Given the description of an element on the screen output the (x, y) to click on. 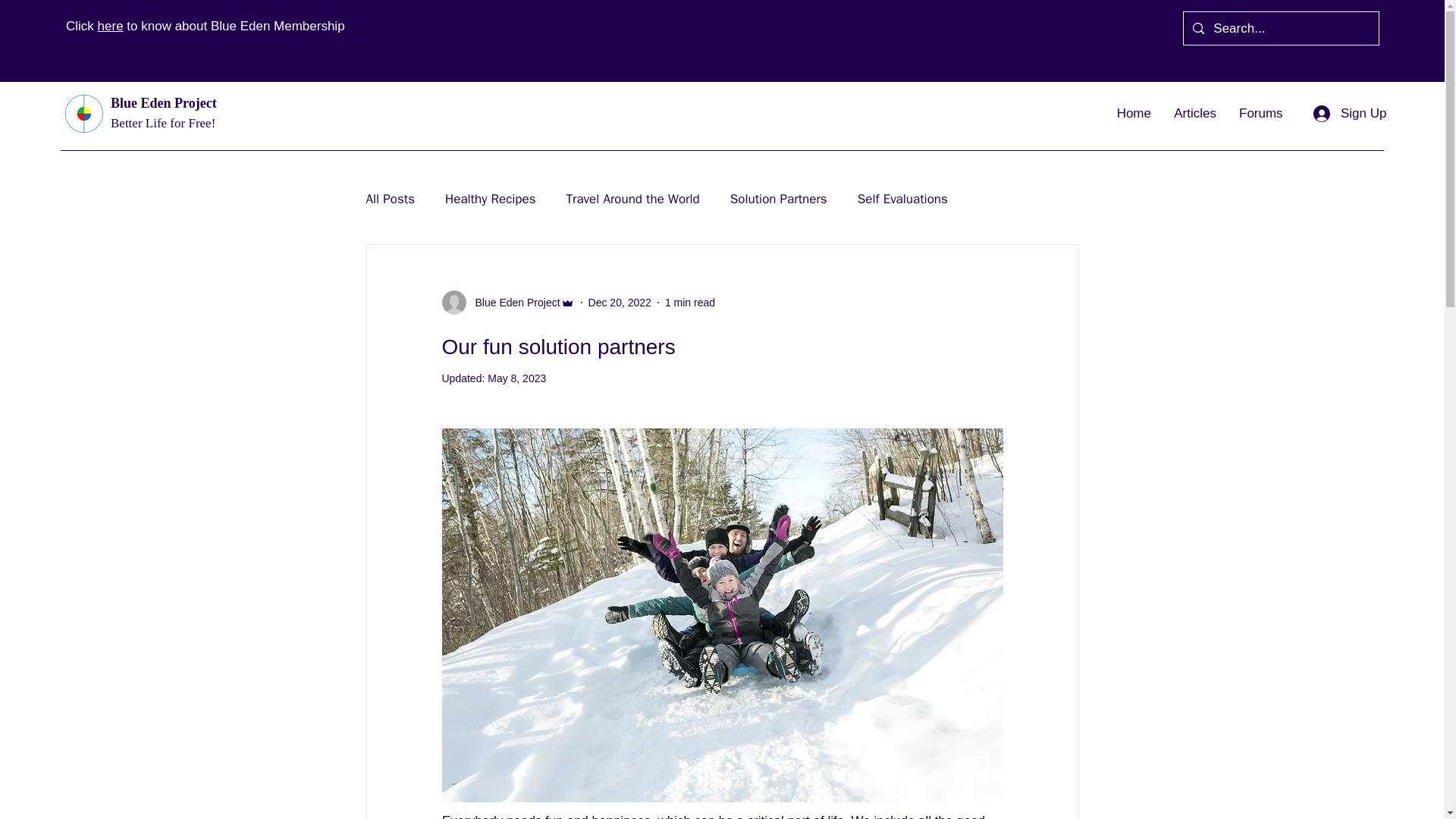
May 8, 2023 (516, 378)
Forums (1259, 113)
Dec 20, 2022 (619, 301)
Healthy Recipes (490, 198)
1 min read (689, 301)
Blue Eden Project (507, 302)
Solution Partners (778, 198)
Self Evaluations (902, 198)
All Posts (389, 198)
Home (1133, 113)
